Given the description of an element on the screen output the (x, y) to click on. 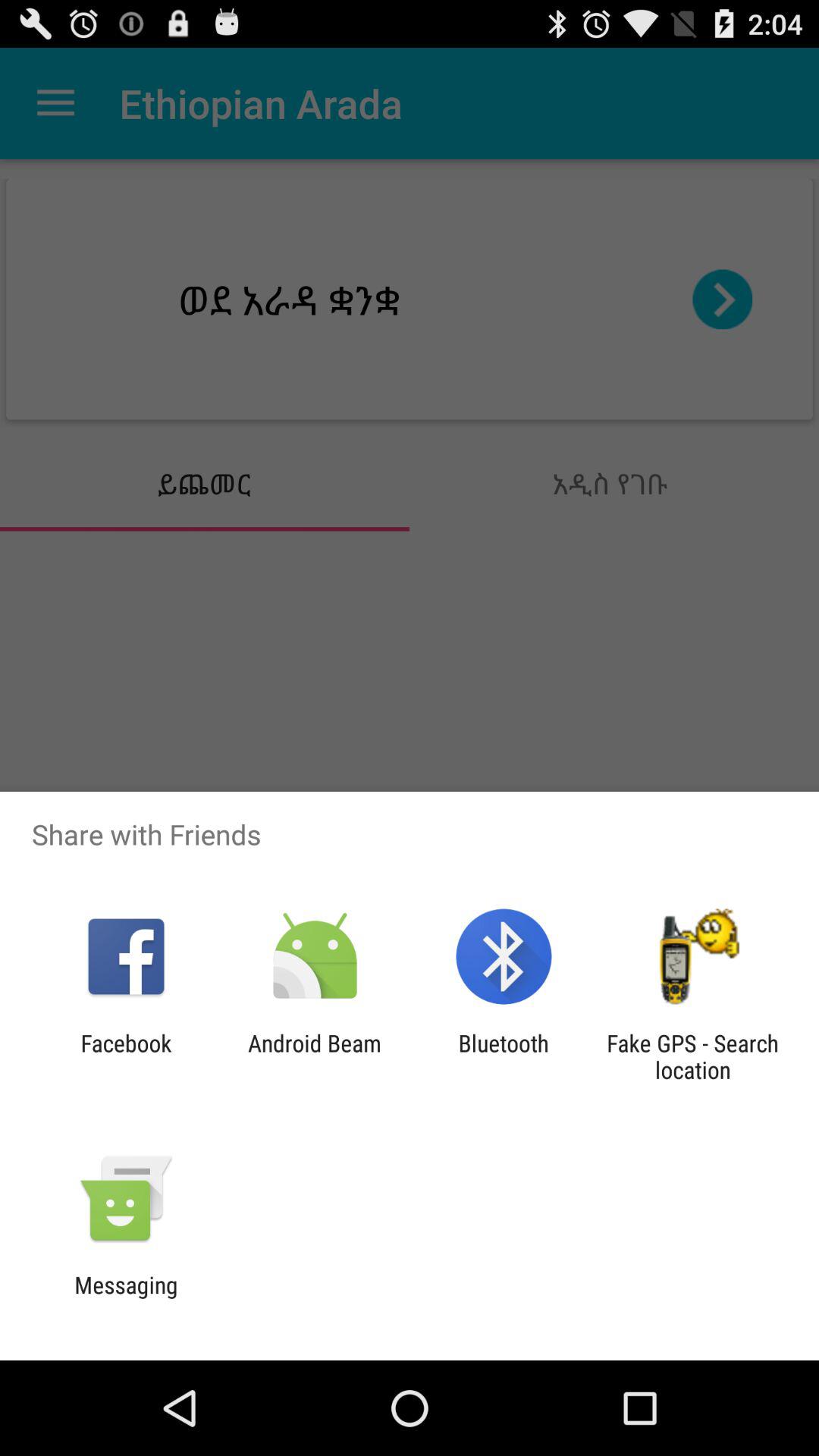
tap icon to the left of bluetooth app (314, 1056)
